Given the description of an element on the screen output the (x, y) to click on. 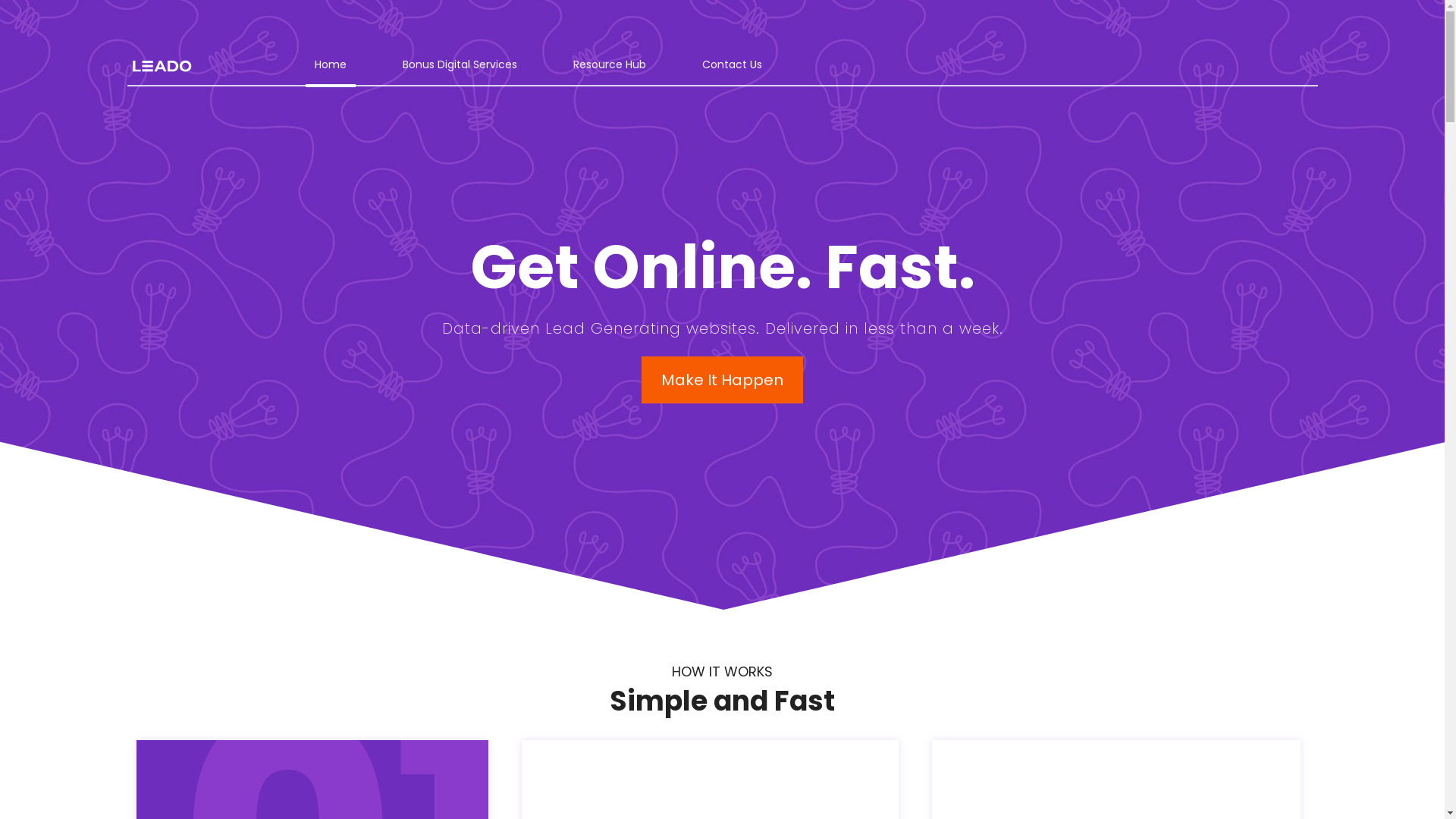
Home Element type: text (330, 64)
Bonus Digital Services Element type: text (459, 64)
Contact Us Element type: text (732, 64)
Resource Hub Element type: text (609, 64)
Make It Happen Element type: text (722, 379)
